Given the description of an element on the screen output the (x, y) to click on. 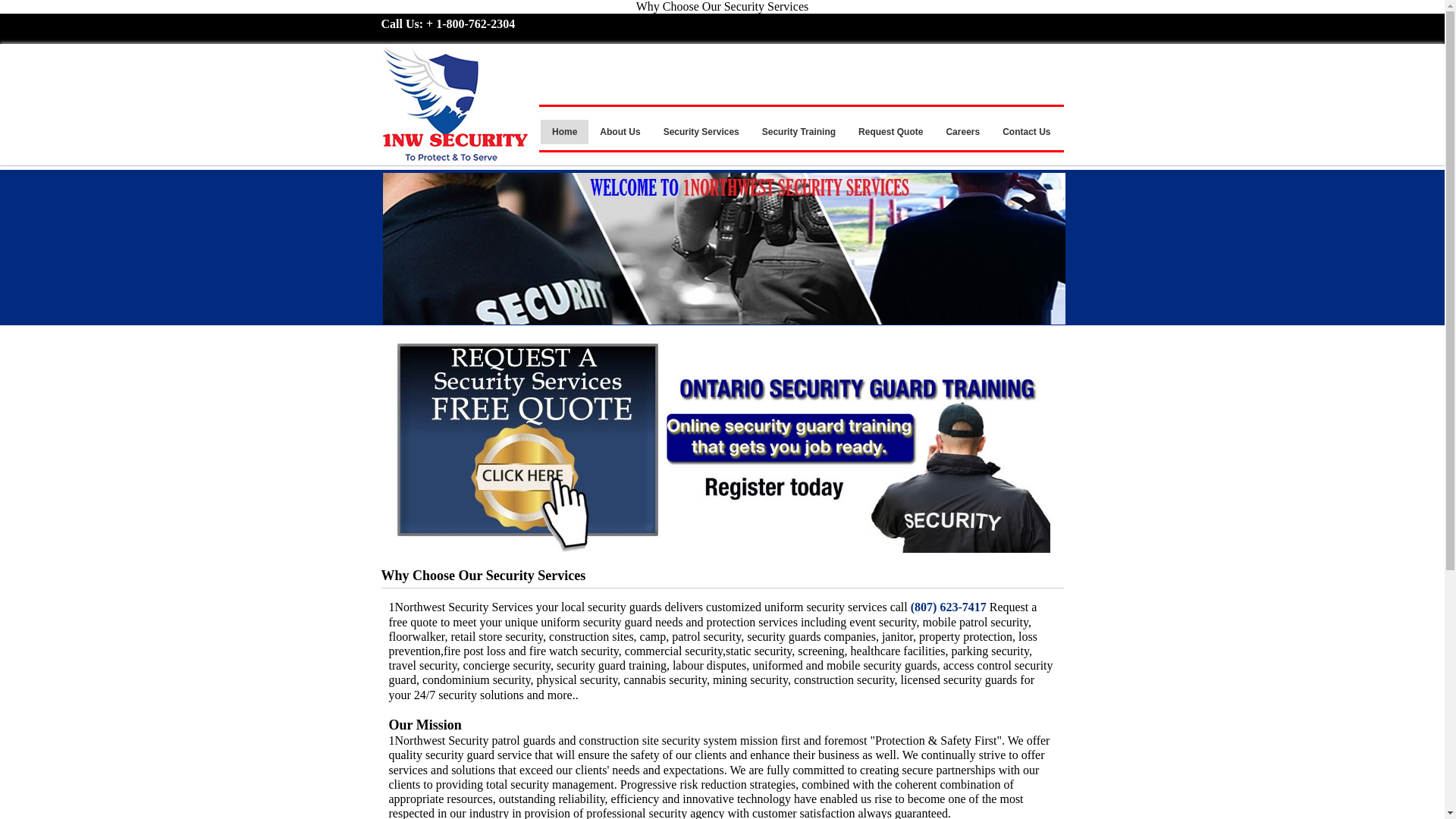
Contact Us Element type: text (1026, 131)
Security Training Element type: text (798, 131)
Security Services Element type: text (701, 131)
Request Quote Element type: text (890, 131)
(807) 623-7417 Element type: text (948, 606)
Careers Element type: text (962, 131)
Home Element type: text (564, 131)
About Us Element type: text (619, 131)
